Given the description of an element on the screen output the (x, y) to click on. 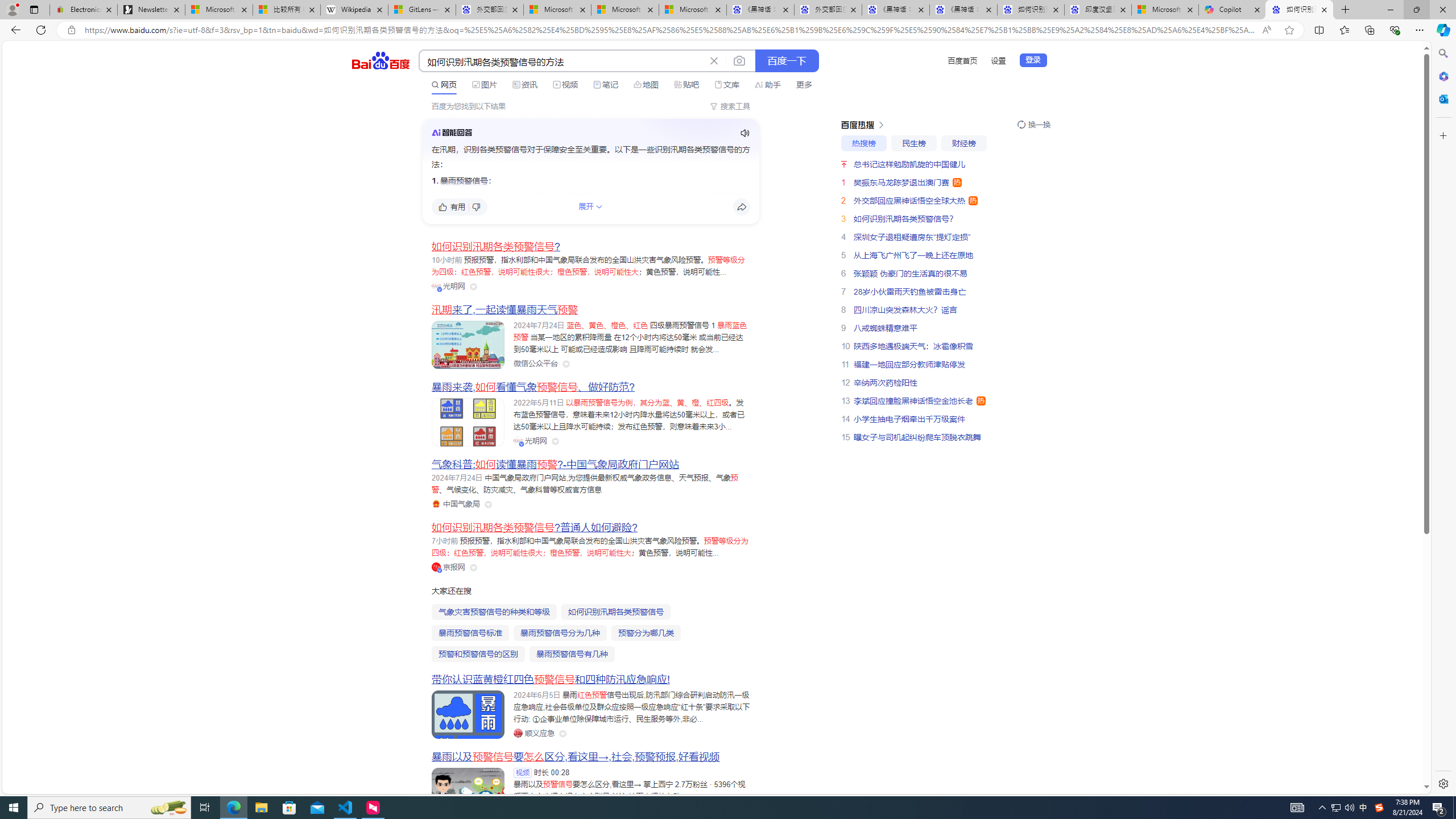
Class: img-light_7jMUg (450, 131)
Class: siteLink_9TPP3 (533, 732)
